Given the description of an element on the screen output the (x, y) to click on. 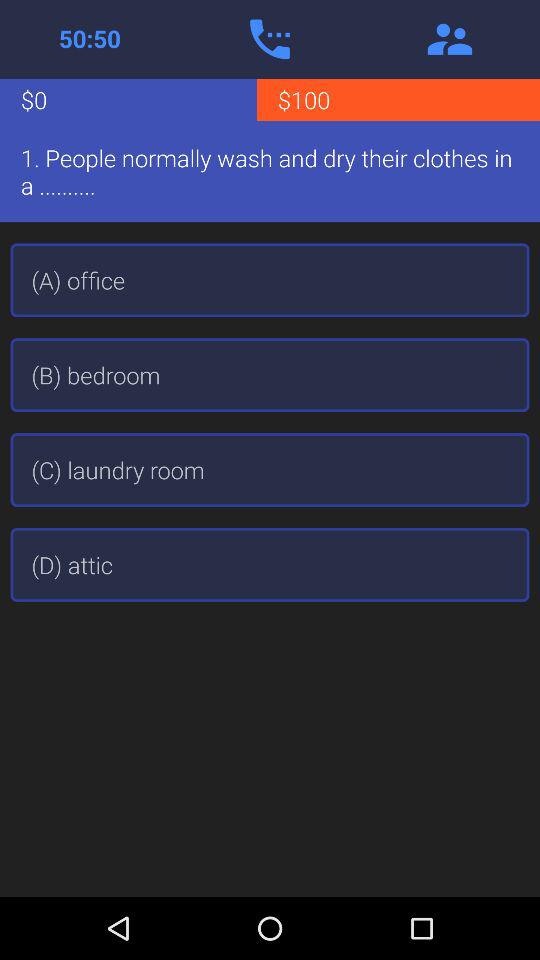
select the app above the (c) laundry room icon (269, 375)
